Given the description of an element on the screen output the (x, y) to click on. 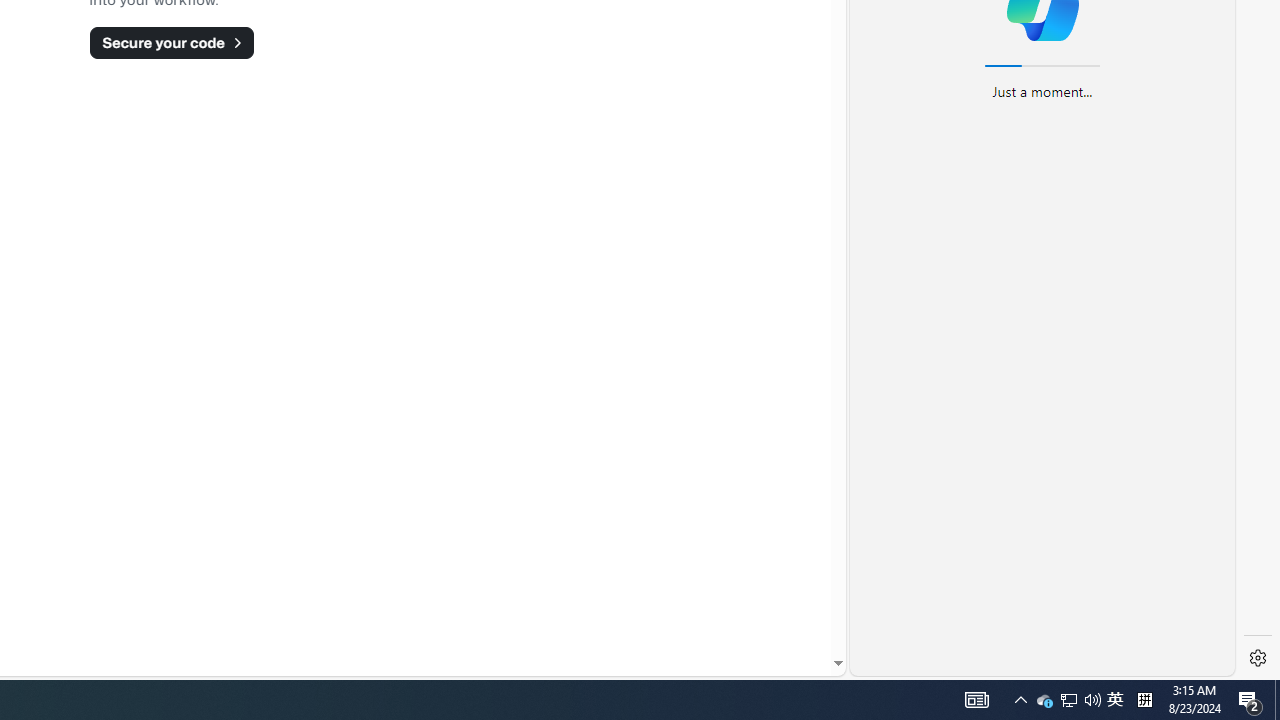
Secure your code (171, 42)
